Given the description of an element on the screen output the (x, y) to click on. 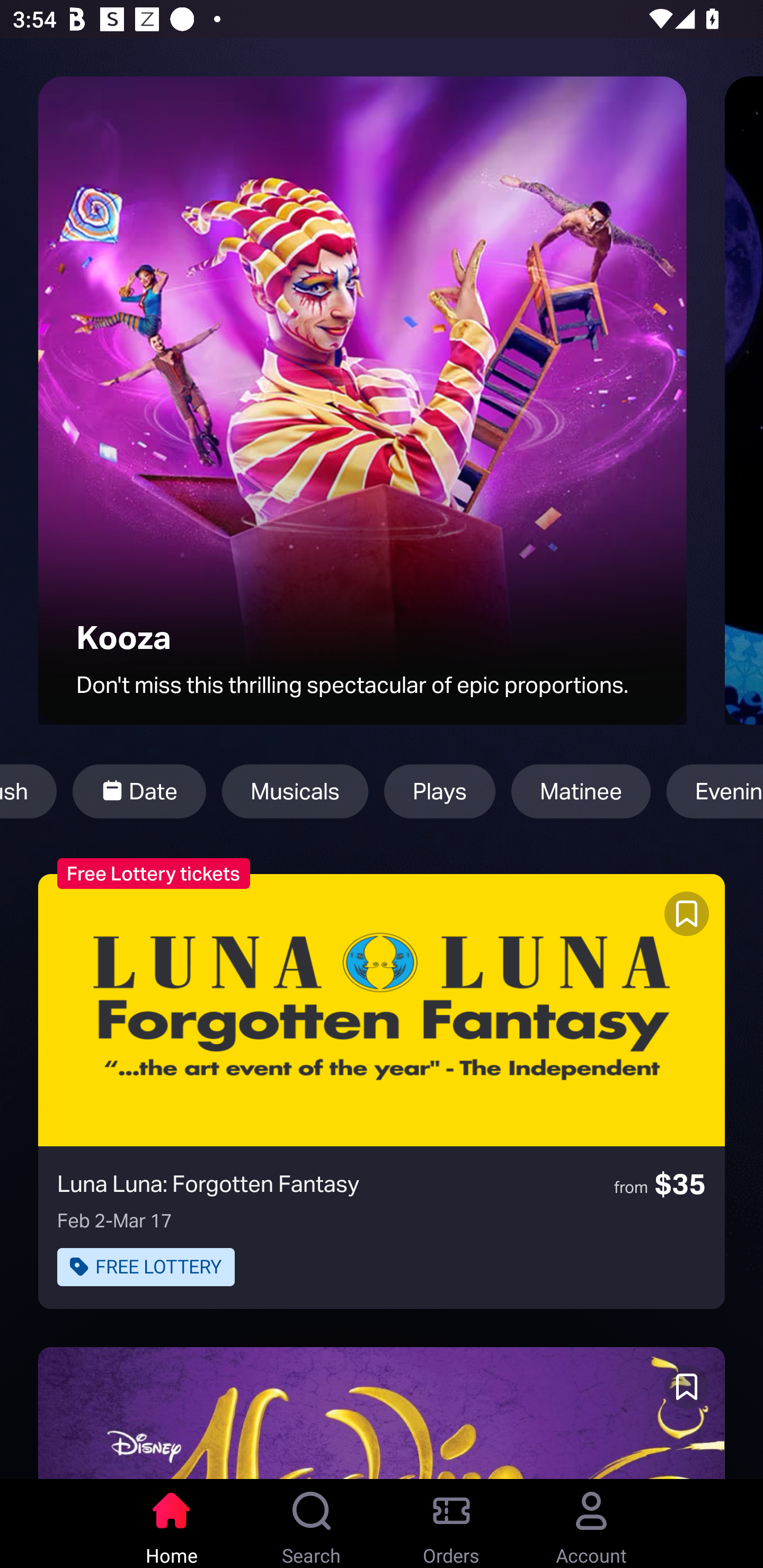
Date (139, 791)
Musicals (295, 791)
Plays (439, 791)
Matinee (580, 791)
Search (311, 1523)
Orders (451, 1523)
Account (591, 1523)
